Given the description of an element on the screen output the (x, y) to click on. 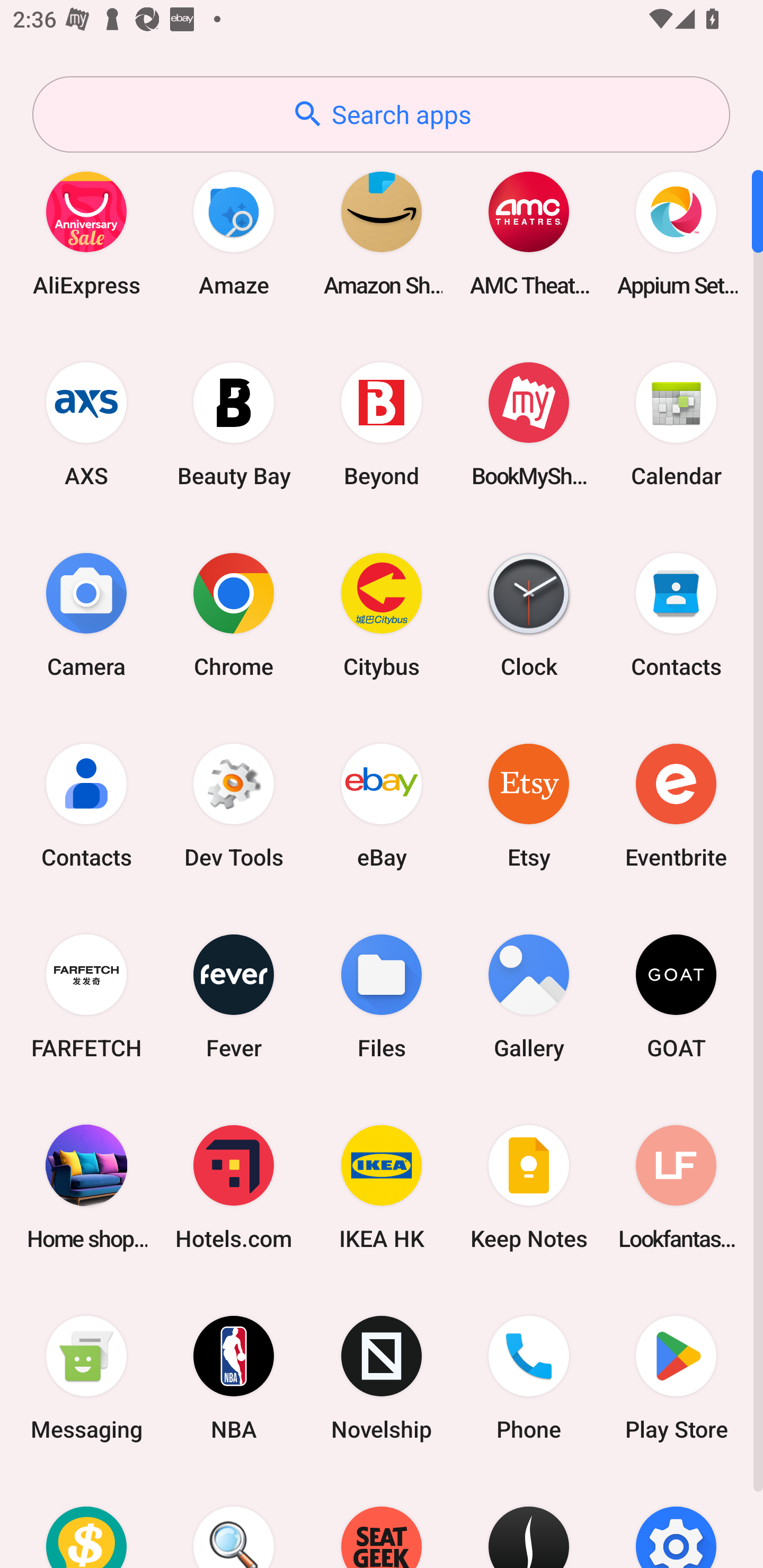
  Search apps (381, 114)
AliExpress (86, 233)
Amaze (233, 233)
Amazon Shopping (381, 233)
AMC Theatres (528, 233)
Appium Settings (676, 233)
AXS (86, 424)
Beauty Bay (233, 424)
Beyond (381, 424)
BookMyShow (528, 424)
Calendar (676, 424)
Camera (86, 614)
Chrome (233, 614)
Citybus (381, 614)
Clock (528, 614)
Contacts (676, 614)
Contacts (86, 805)
Dev Tools (233, 805)
eBay (381, 805)
Etsy (528, 805)
Eventbrite (676, 805)
FARFETCH (86, 996)
Fever (233, 996)
Files (381, 996)
Gallery (528, 996)
GOAT (676, 996)
Home shopping (86, 1186)
Hotels.com (233, 1186)
IKEA HK (381, 1186)
Keep Notes (528, 1186)
Lookfantastic (676, 1186)
Messaging (86, 1377)
NBA (233, 1377)
Novelship (381, 1377)
Phone (528, 1377)
Play Store (676, 1377)
